Given the description of an element on the screen output the (x, y) to click on. 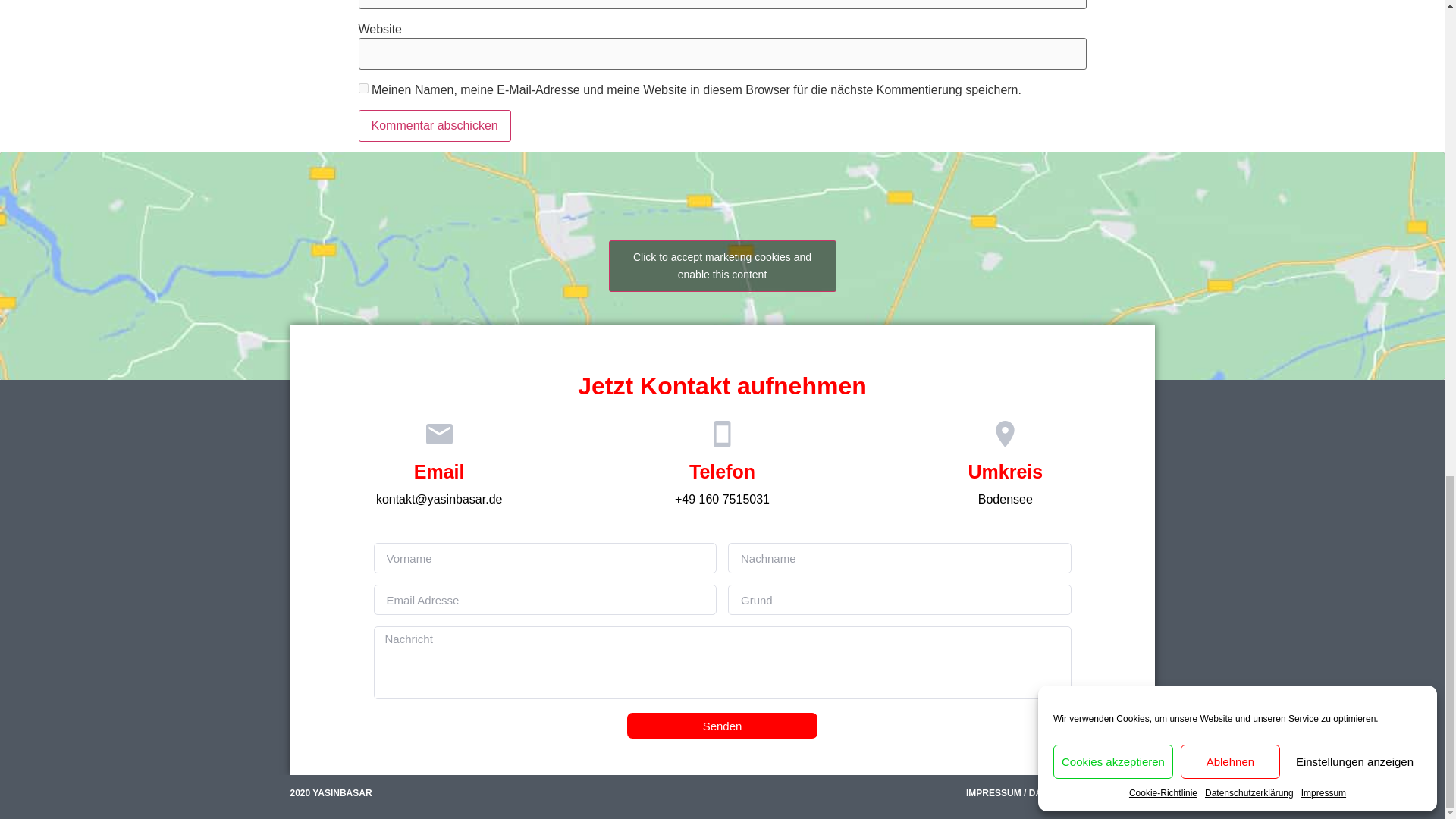
Click to accept marketing cookies and enable this content (721, 265)
Email (438, 471)
yes (363, 88)
Kommentar abschicken (434, 125)
Kommentar abschicken (434, 125)
Telefon (721, 471)
